Given the description of an element on the screen output the (x, y) to click on. 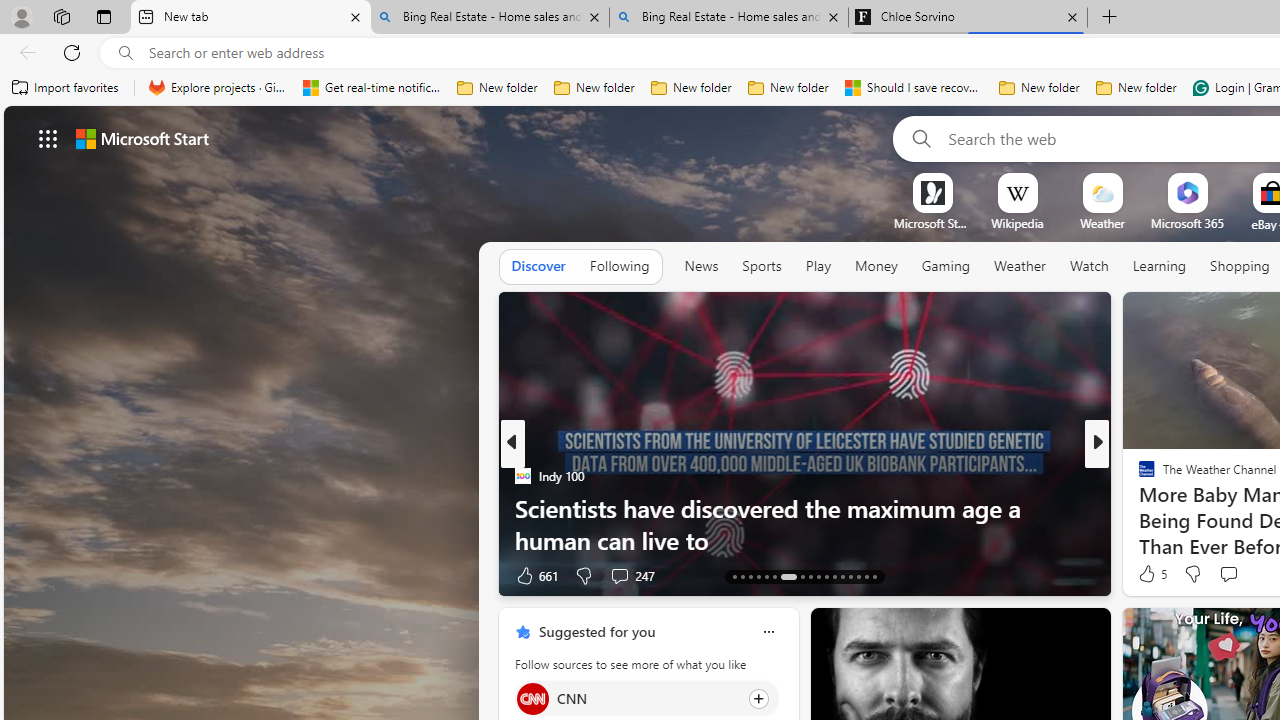
CNN (532, 697)
17 Like (1149, 574)
Weather (1020, 265)
Play (817, 265)
16 Like (1149, 574)
AutomationID: tab-15 (750, 576)
Indy 100 (522, 475)
To get missing image descriptions, open the context menu. (932, 192)
Suggested for you (596, 631)
5 Like (1151, 574)
View comments 25 Comment (1229, 575)
Learning (1159, 265)
